Given the description of an element on the screen output the (x, y) to click on. 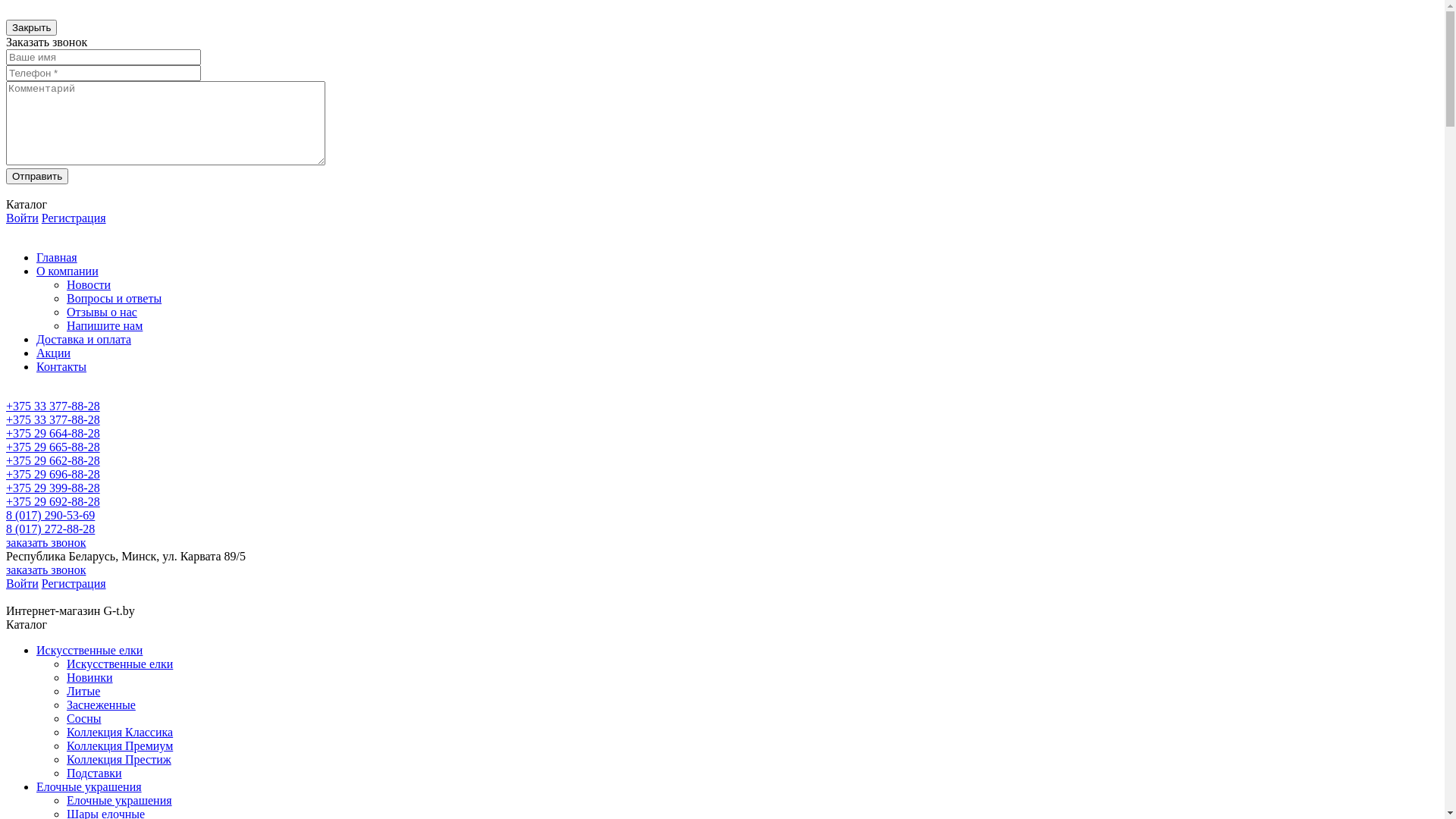
+375 29 399-88-28 Element type: text (53, 487)
+375 29 664-88-28 Element type: text (53, 432)
+375 29 665-88-28 Element type: text (53, 446)
+375 29 696-88-28 Element type: text (53, 473)
+375 33 377-88-28 Element type: text (53, 405)
+375 29 692-88-28 Element type: text (53, 501)
8 (017) 290-53-69 Element type: text (50, 514)
+375 29 662-88-28 Element type: text (53, 460)
8 (017) 272-88-28 Element type: text (50, 528)
+375 33 377-88-28 Element type: text (53, 419)
